Given the description of an element on the screen output the (x, y) to click on. 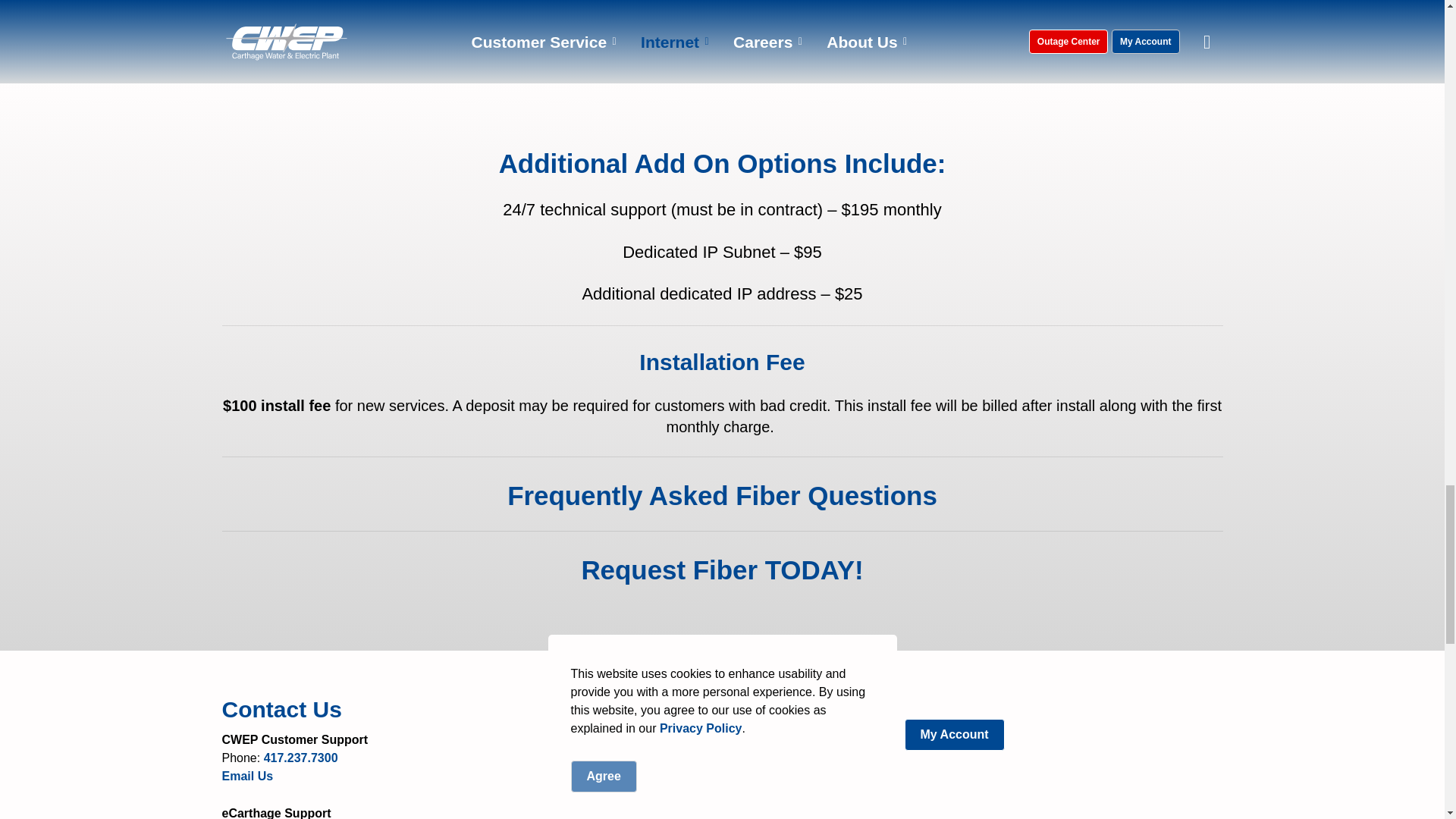
Fiber Request (721, 569)
Fiber FAQ (721, 495)
